Given the description of an element on the screen output the (x, y) to click on. 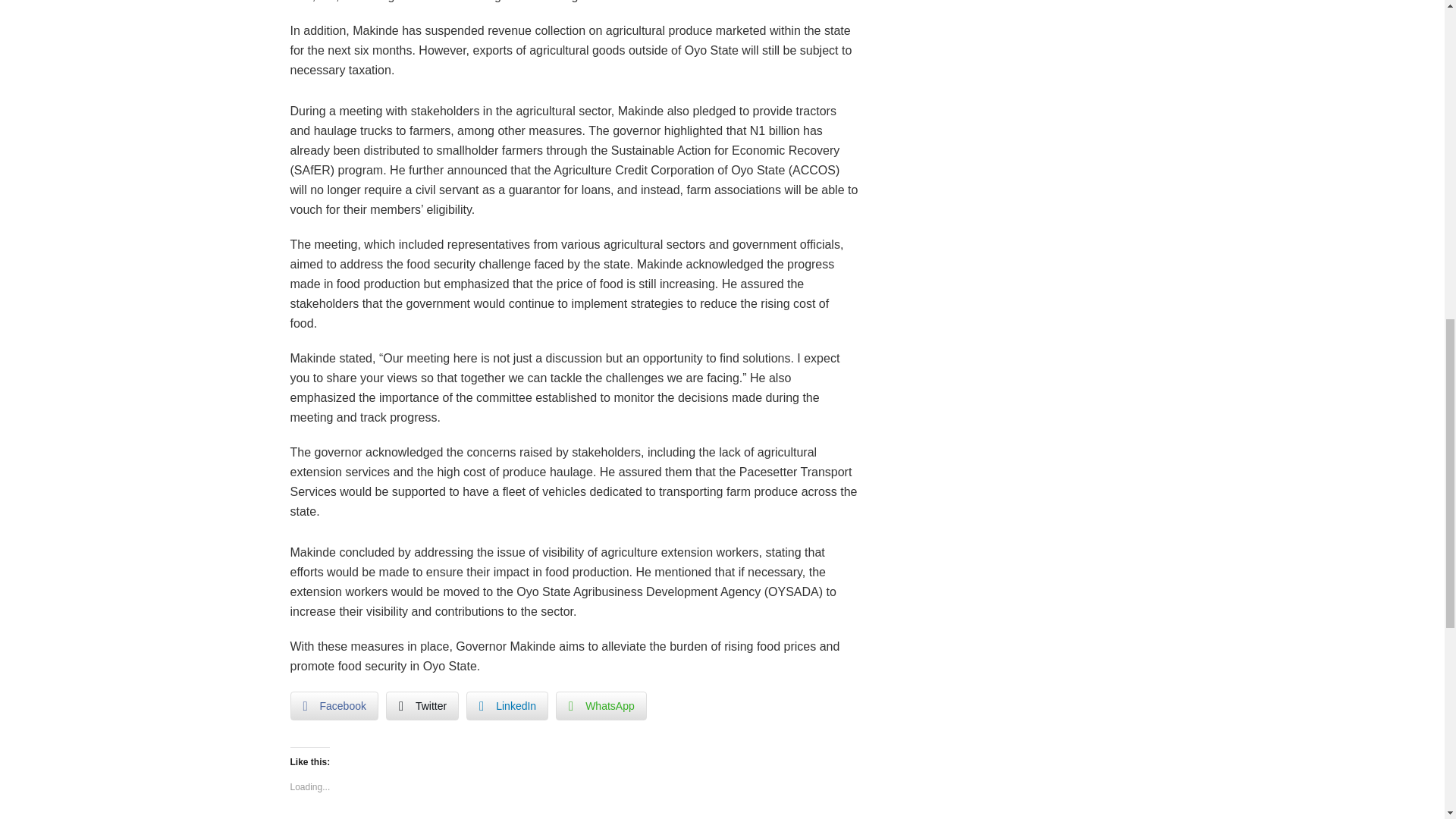
Twitter (421, 705)
WhatsApp (601, 705)
Facebook (333, 705)
LinkedIn (506, 705)
